Given the description of an element on the screen output the (x, y) to click on. 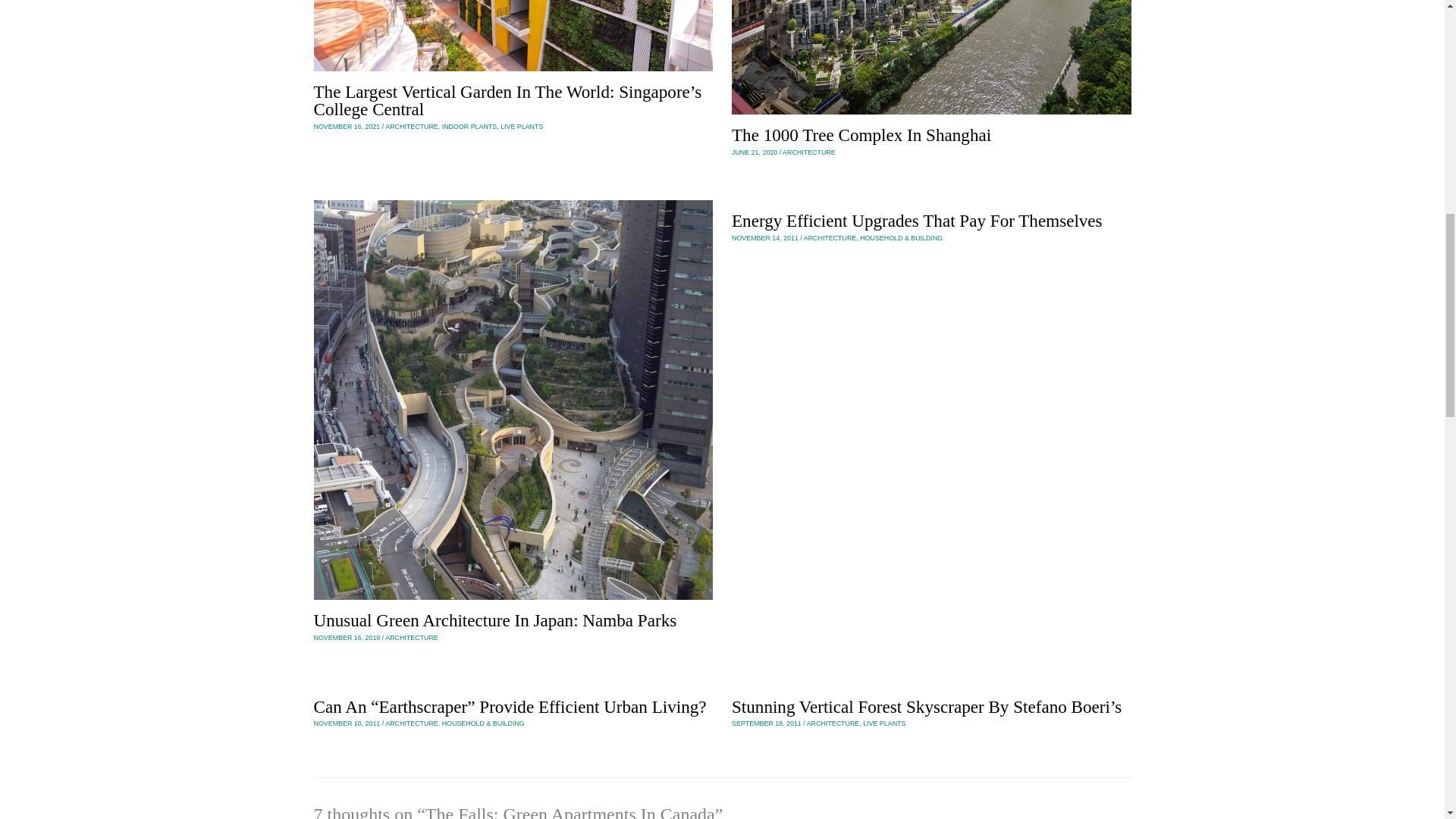
ARCHITECTURE (411, 126)
ARCHITECTURE (809, 152)
Unusual Green Architecture In Japan: Namba Parks (495, 619)
LIVE PLANTS (521, 126)
The 1000 Tree Complex In Shanghai (861, 134)
ARCHITECTURE (411, 723)
ARCHITECTURE (411, 637)
ARCHITECTURE (830, 237)
Energy Efficient Upgrades That Pay For Themselves (917, 220)
INDOOR PLANTS (469, 126)
